Given the description of an element on the screen output the (x, y) to click on. 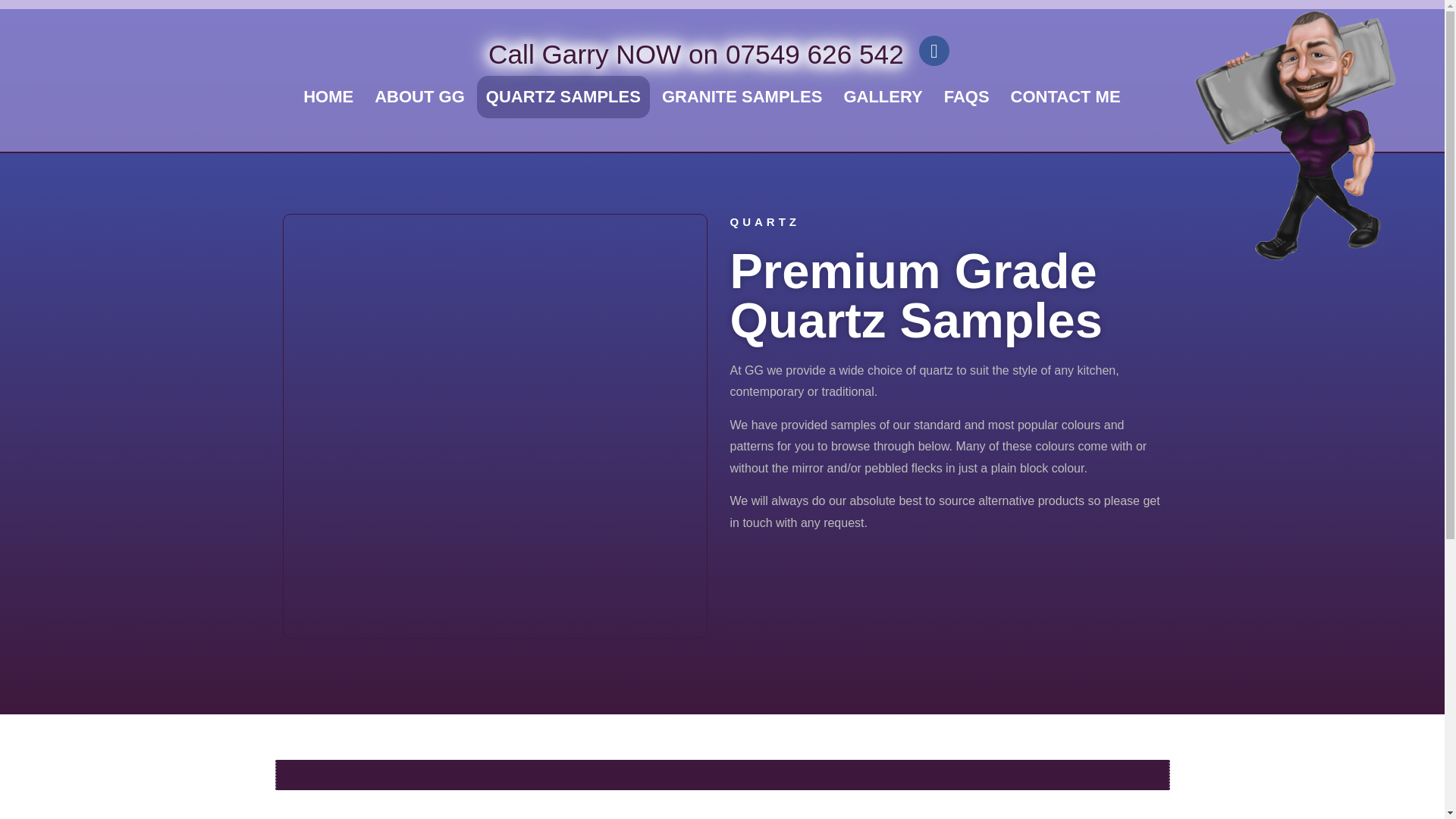
FAQS (966, 96)
HOME (328, 96)
GRANITE SAMPLES (741, 96)
QUARTZ SAMPLES (563, 96)
GALLERY (882, 96)
ABOUT GG (419, 96)
CONTACT ME (1065, 96)
